Given the description of an element on the screen output the (x, y) to click on. 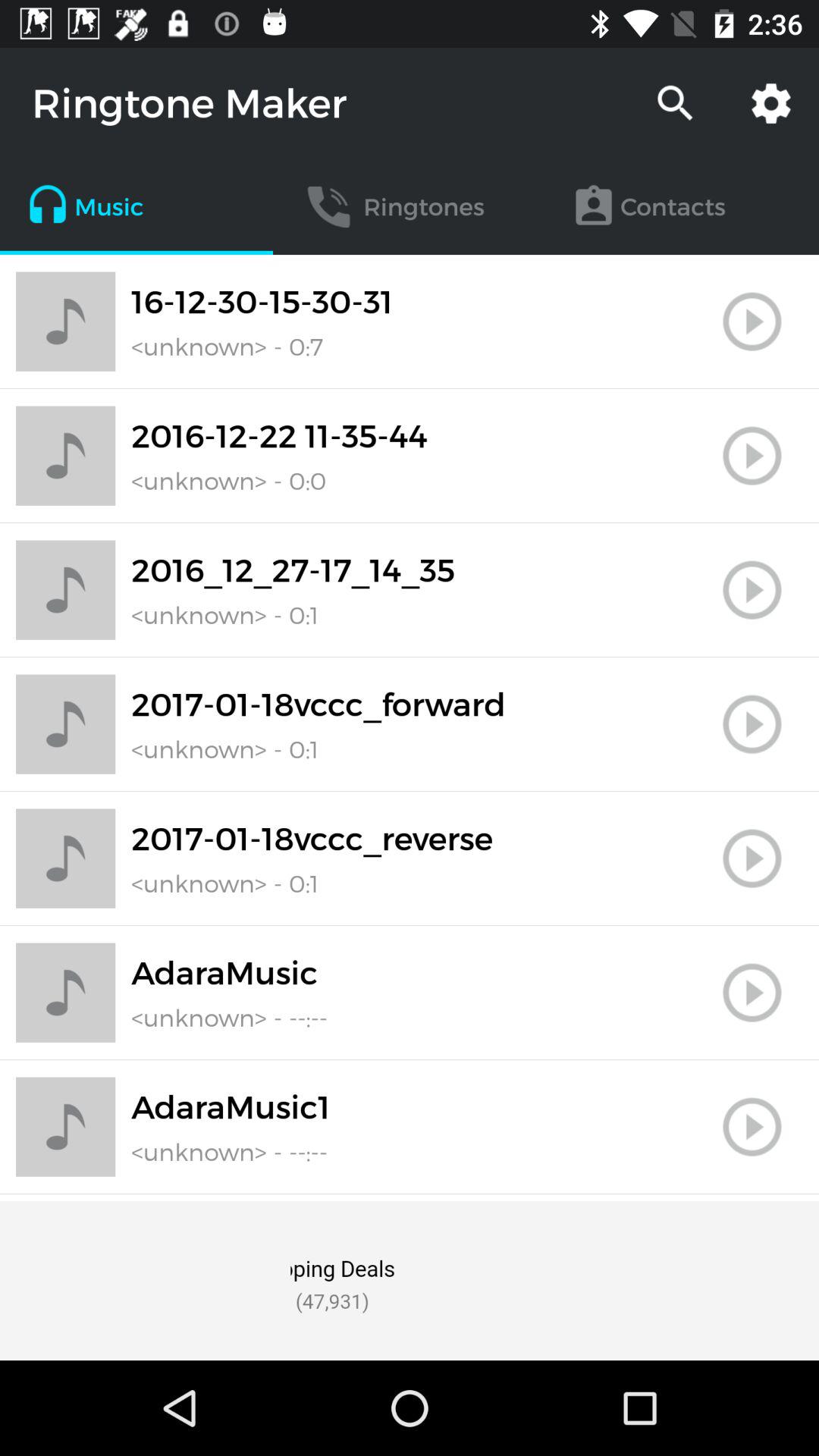
select the play button (752, 1126)
